Given the description of an element on the screen output the (x, y) to click on. 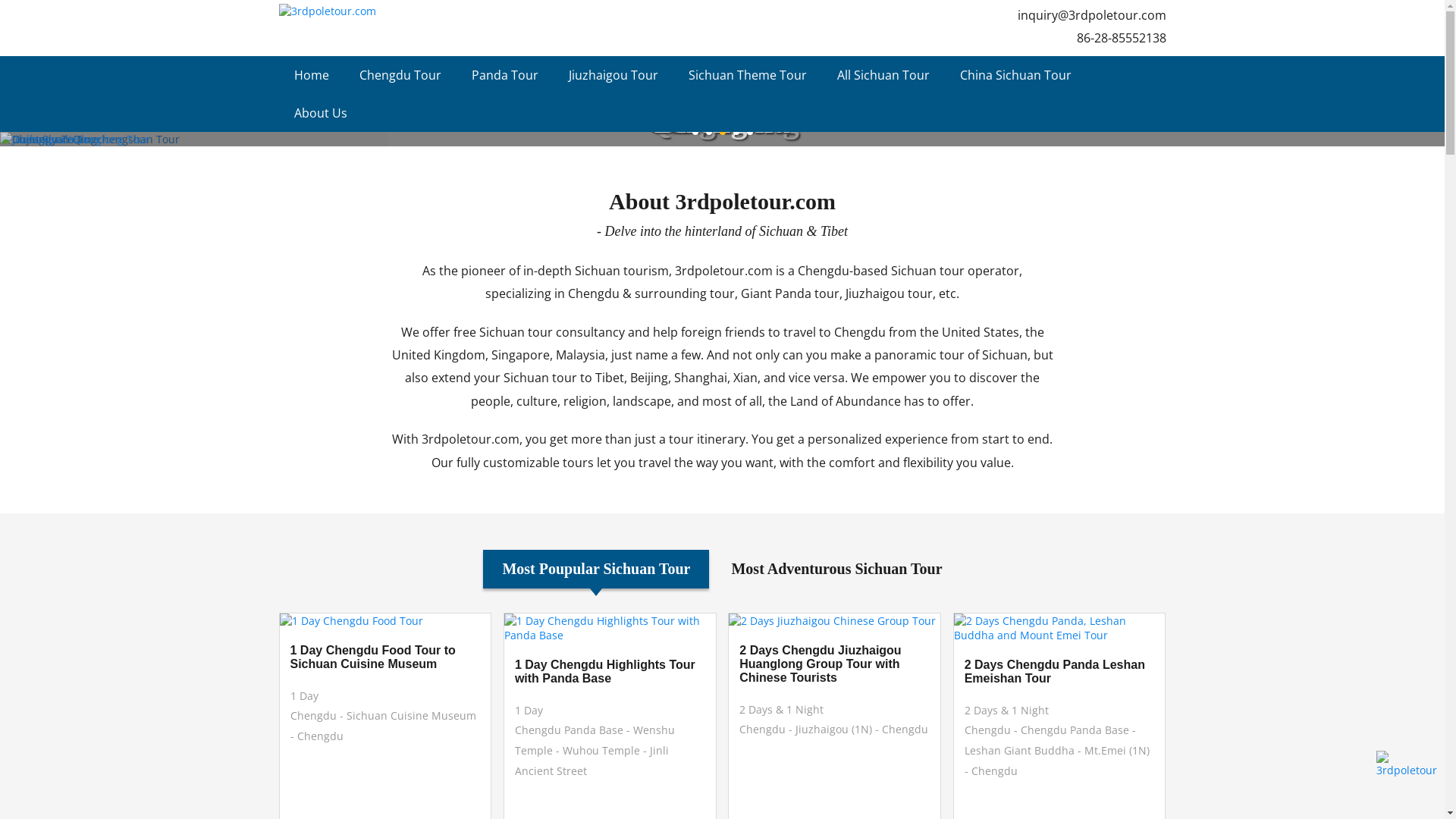
1 Day Chengdu Highlights Tour with Panda Base Element type: text (609, 671)
Chengdu Tour Element type: text (400, 75)
1 Day Chengdu Food Tour to Sichuan Cuisine Museum Element type: text (384, 657)
All Sichuan Tour Element type: text (883, 75)
Home Element type: text (311, 75)
About Us Element type: text (320, 112)
China Sichuan Tour Element type: text (1015, 75)
Dujiangyan Qingchengshan Tour Element type: hover (722, 138)
Jiuzhaigou Tour Element type: text (613, 75)
Panda Tour Element type: text (504, 75)
2 Days Chengdu Panda Leshan Emeishan Tour Element type: text (1059, 671)
Sichuan Theme Tour Element type: text (747, 75)
inquiry@3rdpoletour.com Element type: text (1091, 14)
